Given the description of an element on the screen output the (x, y) to click on. 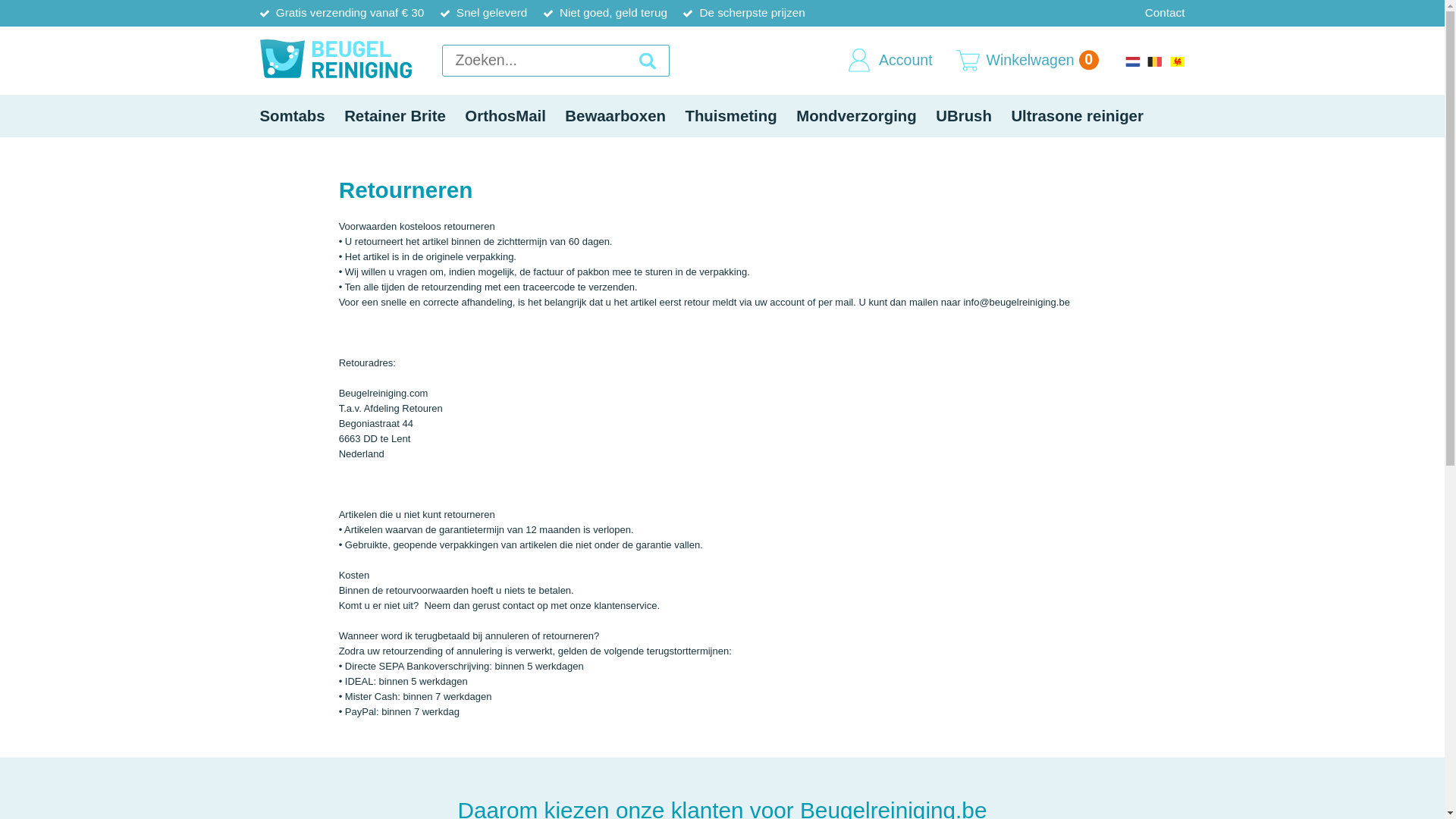
OrthosMail Element type: text (505, 115)
Somtabs Element type: text (292, 115)
Bewaarboxen Element type: text (615, 115)
Mondverzorging Element type: text (855, 115)
BE/FR Element type: hover (1176, 60)
Ultrasone reiniger Element type: text (1077, 115)
Retainer Brite Element type: text (394, 115)
Vul minimaal 2 tekens in. Element type: hover (554, 60)
BE Element type: hover (1154, 60)
Contact Element type: text (1165, 12)
NL Element type: hover (1132, 60)
Account Element type: text (905, 60)
Thuismeting Element type: text (731, 115)
Winkelwagen
0 Element type: text (1042, 60)
UBrush Element type: text (963, 115)
